Given the description of an element on the screen output the (x, y) to click on. 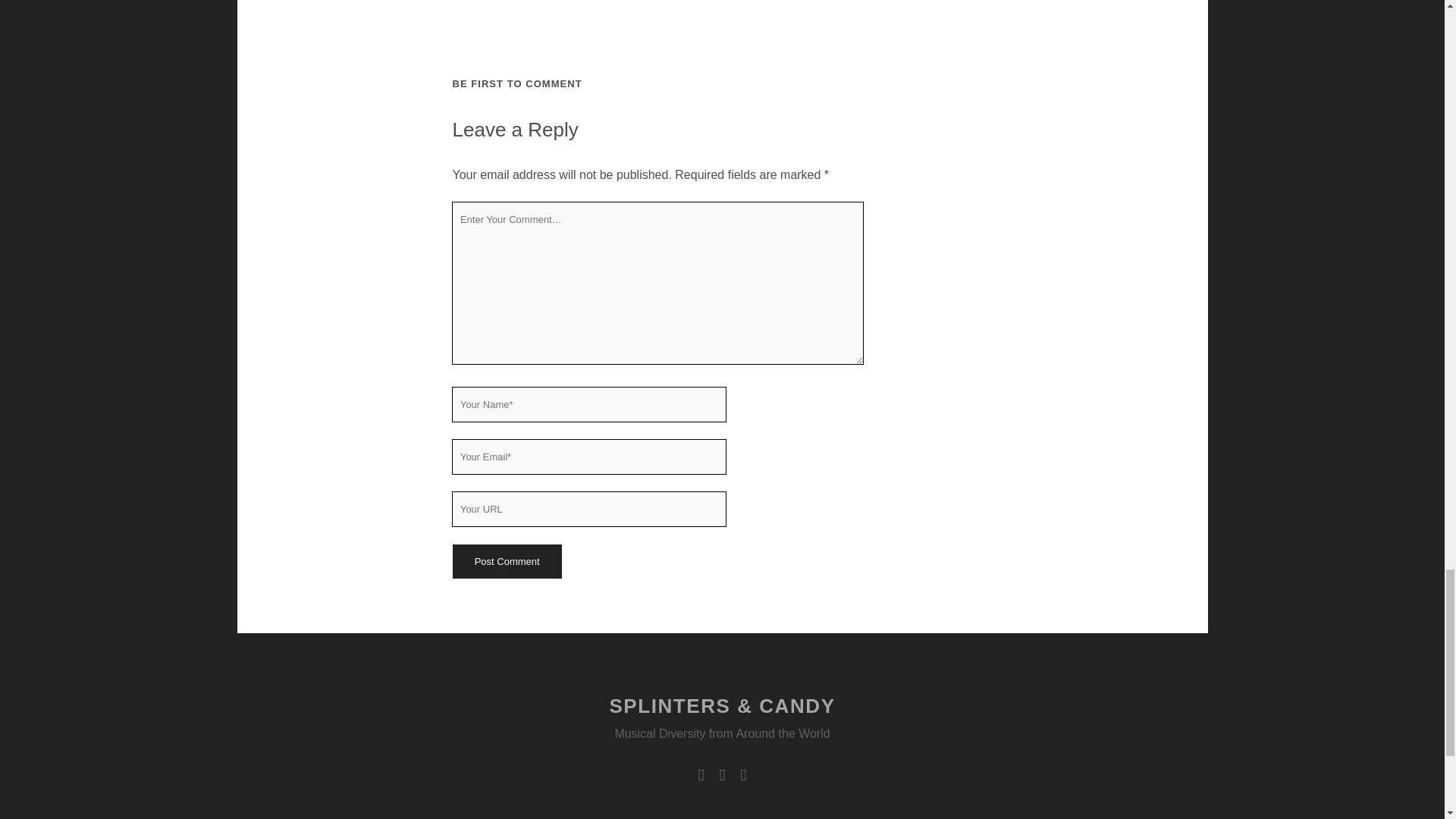
twitter (701, 774)
Post Comment (505, 561)
Post Comment (505, 561)
